Given the description of an element on the screen output the (x, y) to click on. 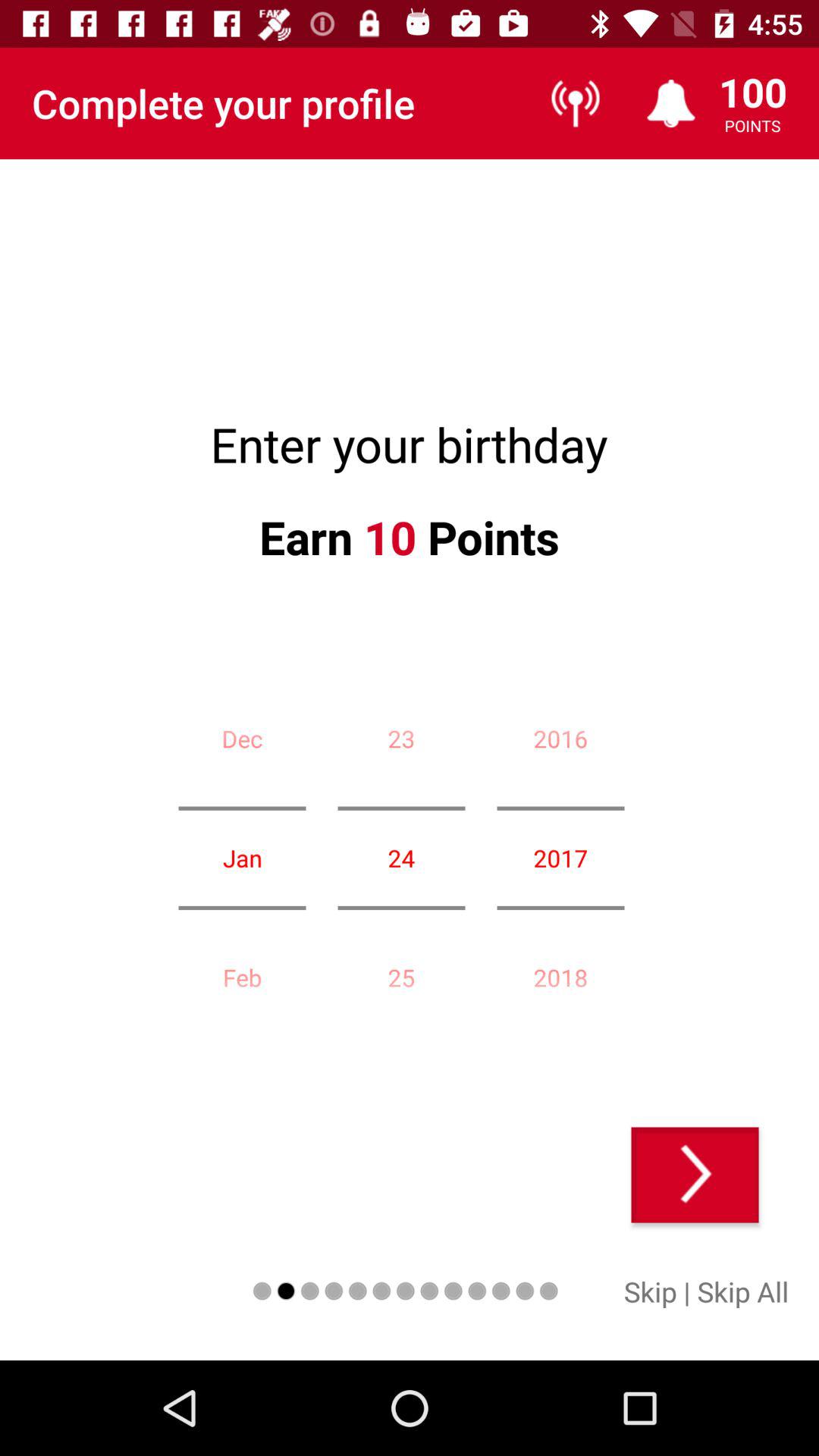
go to next page (694, 1174)
